Given the description of an element on the screen output the (x, y) to click on. 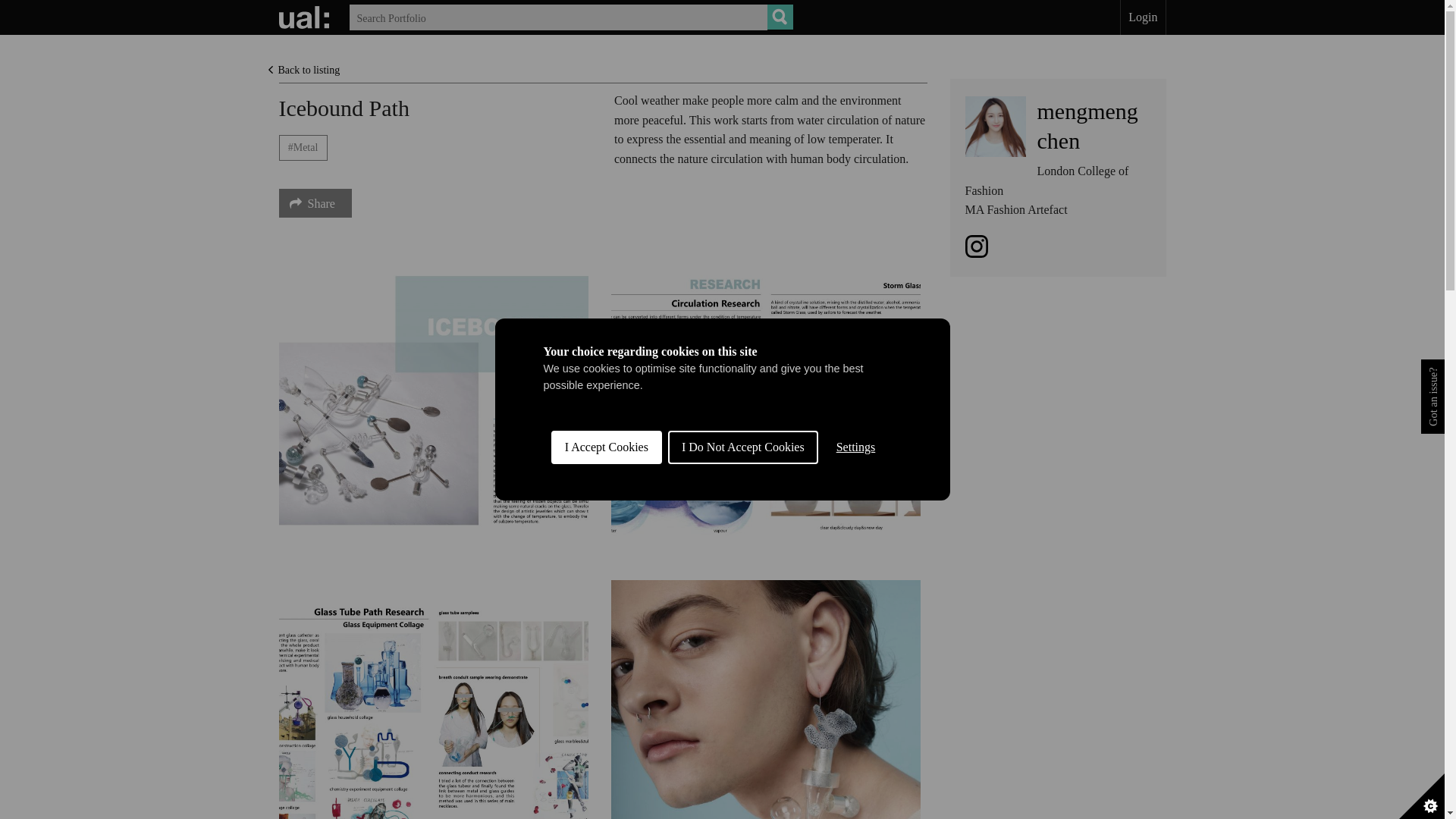
I Accept Cookies (606, 707)
Browse (780, 17)
Back to listing (303, 70)
Login (1142, 17)
Keywords (570, 17)
Search (780, 17)
UAL: Portfolio (306, 16)
Search (780, 17)
Search (780, 17)
Settings (856, 683)
I Do Not Accept Cookies (1087, 125)
Share (743, 693)
